Given the description of an element on the screen output the (x, y) to click on. 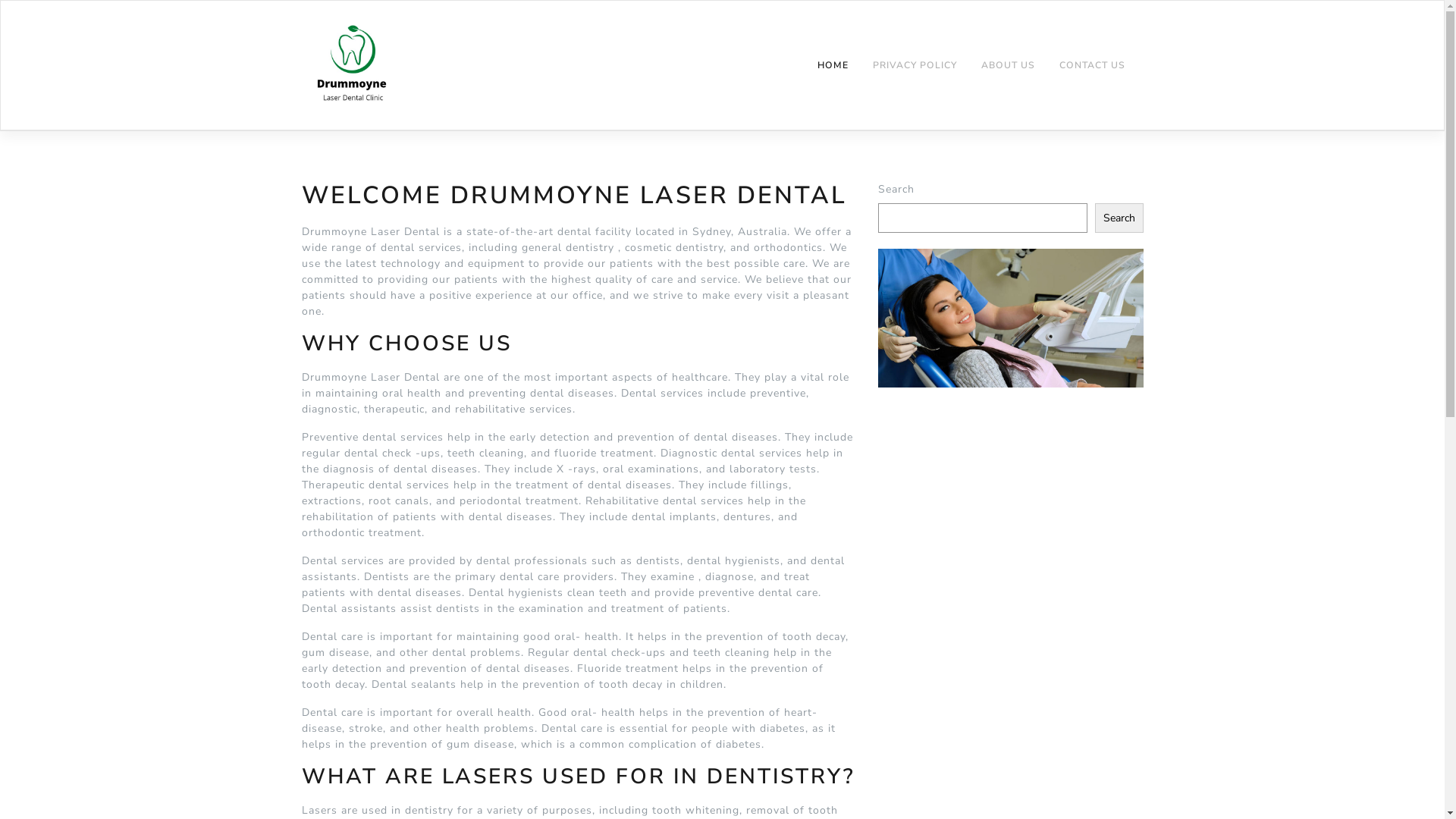
Search Element type: text (1119, 217)
ABOUT US Element type: text (1008, 65)
CONTACT US Element type: text (1091, 65)
PRIVACY POLICY Element type: text (914, 65)
HOME Element type: text (832, 65)
